Given the description of an element on the screen output the (x, y) to click on. 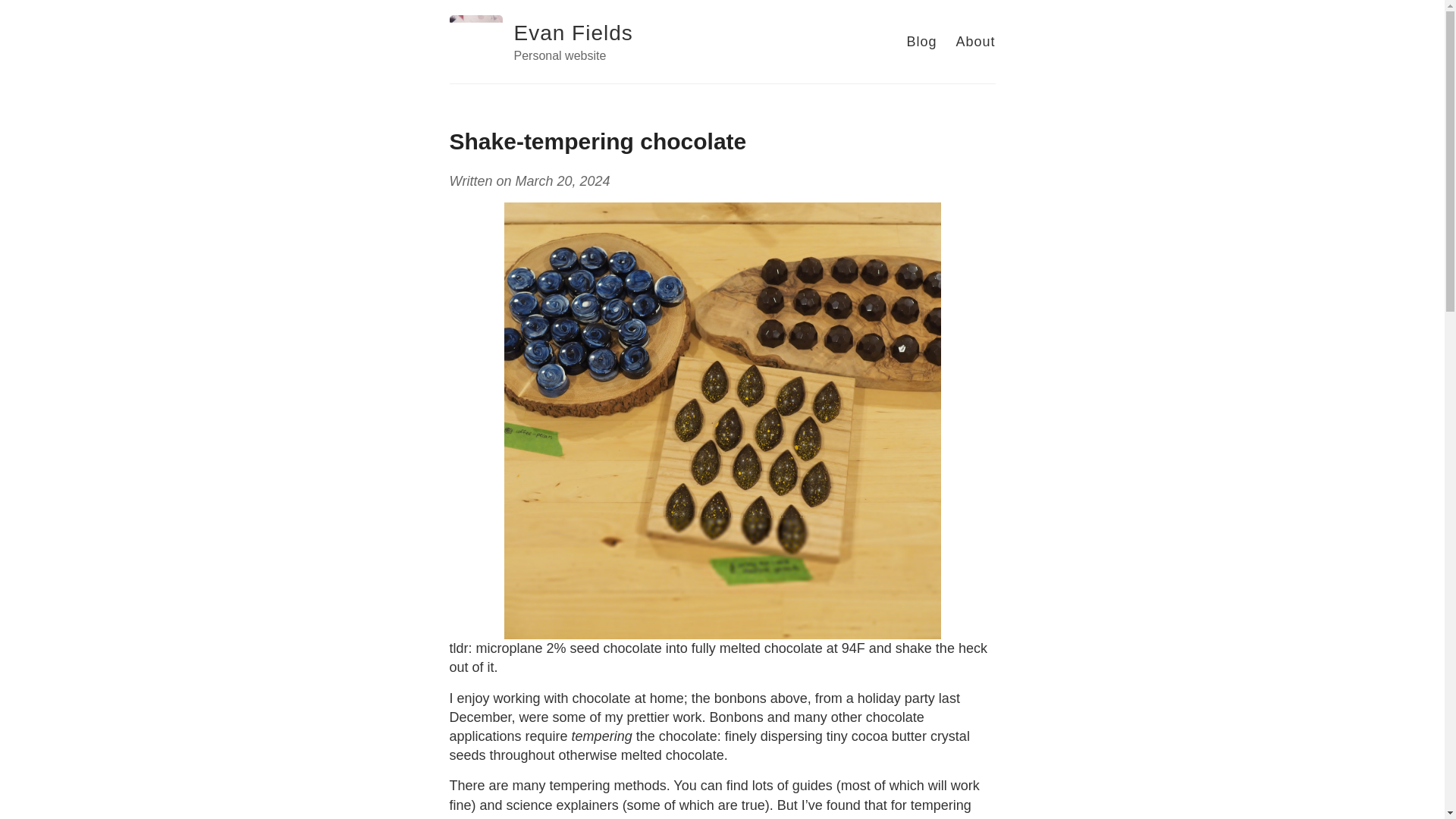
About (974, 41)
Evan Fields (573, 33)
Blog (920, 41)
